Given the description of an element on the screen output the (x, y) to click on. 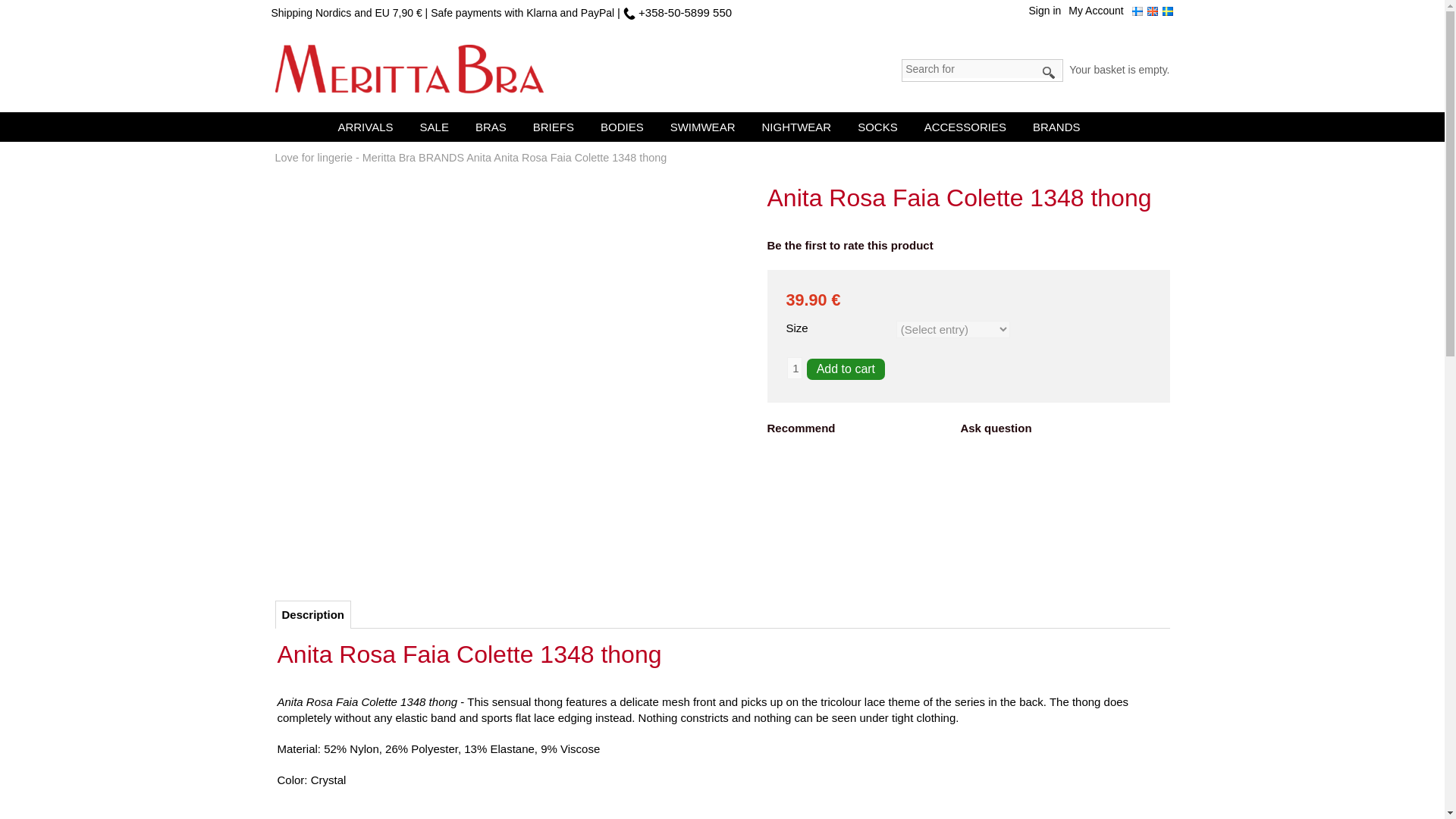
BRAS (494, 126)
Meritta Bra (409, 70)
BRIEFS (556, 126)
My Account (1099, 14)
Start search (1049, 72)
SALE (438, 126)
ARRIVALS (368, 126)
Sign in (1048, 14)
BODIES (624, 126)
